Given the description of an element on the screen output the (x, y) to click on. 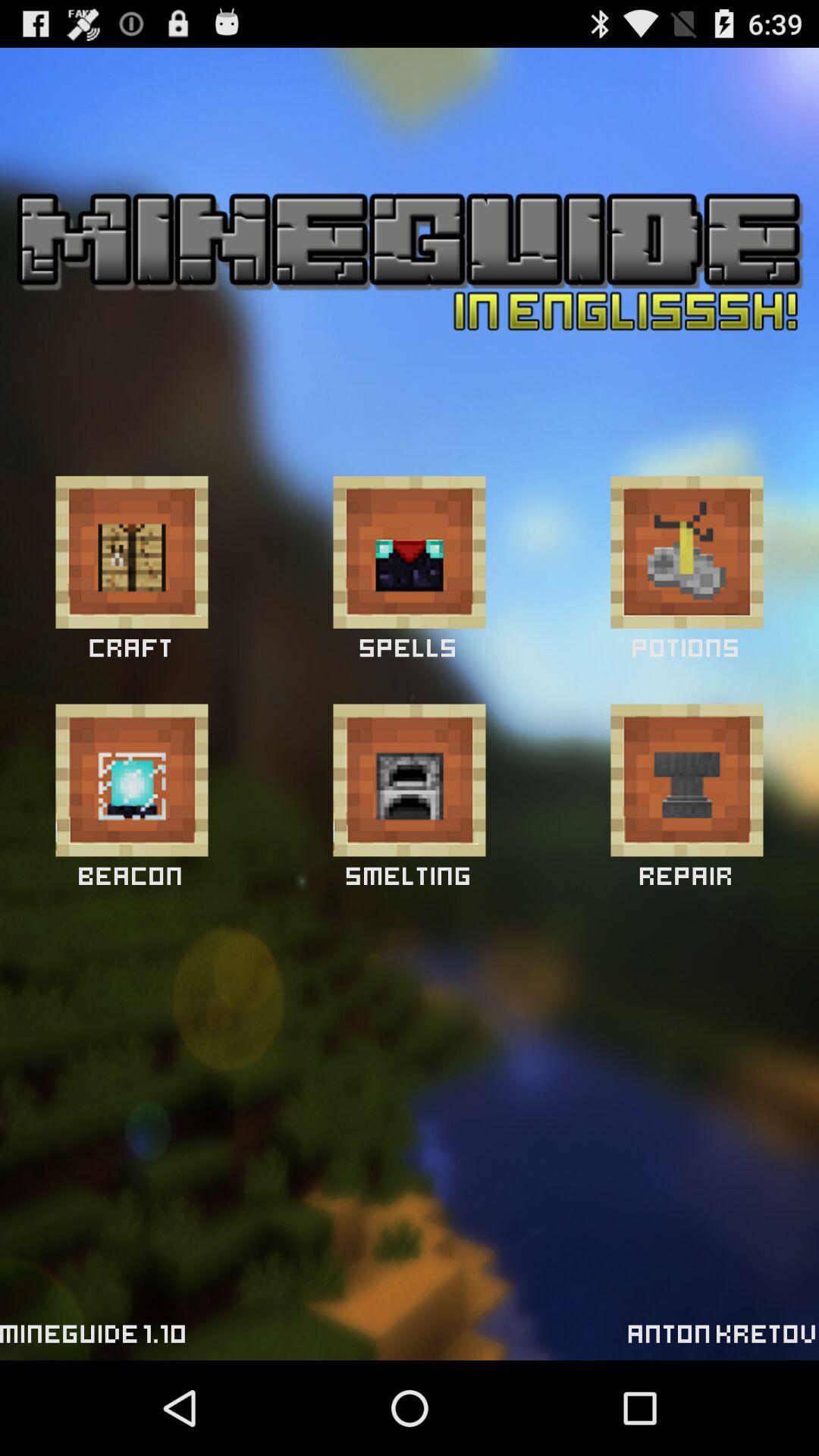
press repair (686, 780)
